Given the description of an element on the screen output the (x, y) to click on. 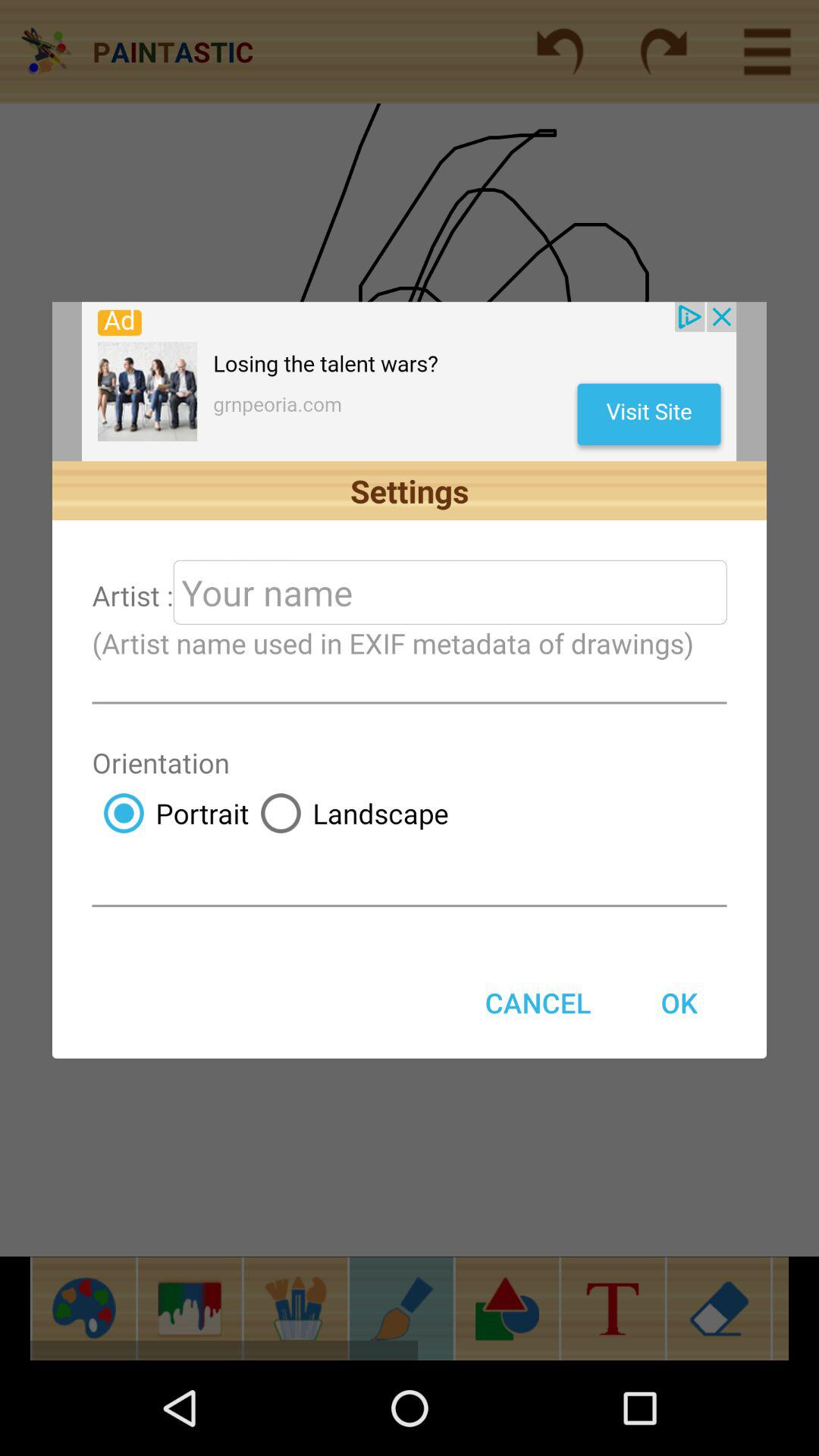
name field (449, 592)
